Given the description of an element on the screen output the (x, y) to click on. 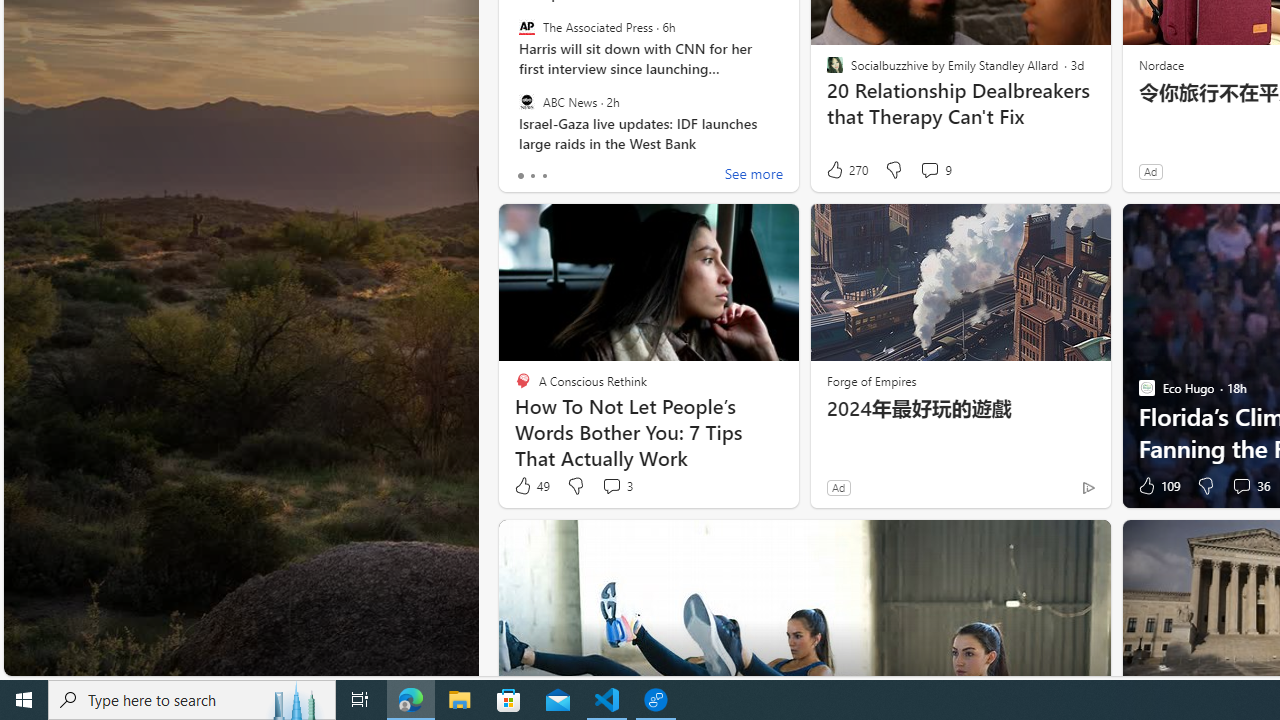
View comments 36 Comment (1249, 485)
Ad Choice (1087, 487)
See more (753, 175)
View comments 9 Comment (929, 169)
Forge of Empires (870, 380)
View comments 9 Comment (935, 170)
View comments 3 Comment (611, 485)
Nordace (1160, 64)
